Given the description of an element on the screen output the (x, y) to click on. 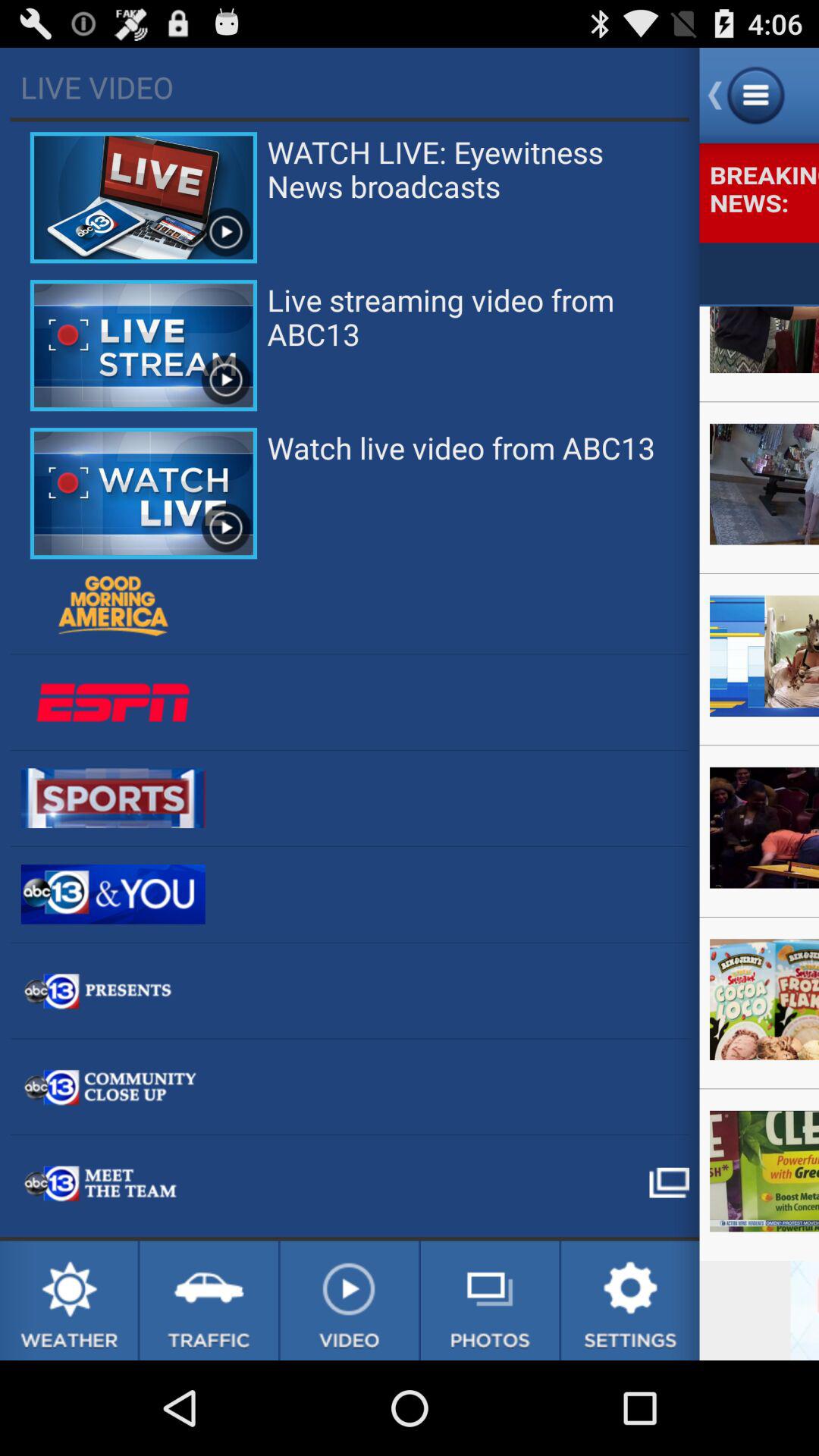
go to weather (68, 1300)
